Given the description of an element on the screen output the (x, y) to click on. 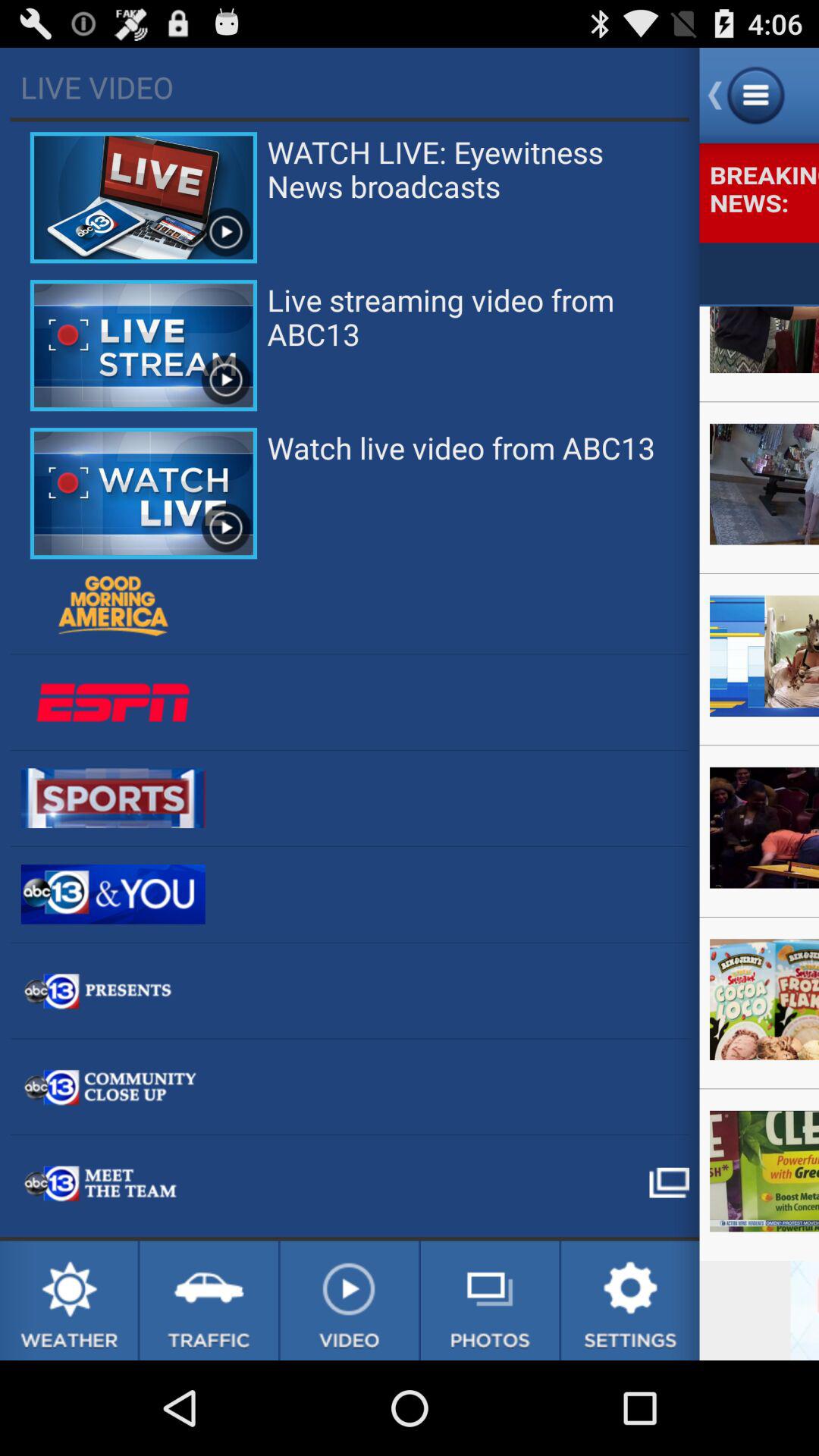
go to weather (68, 1300)
